Given the description of an element on the screen output the (x, y) to click on. 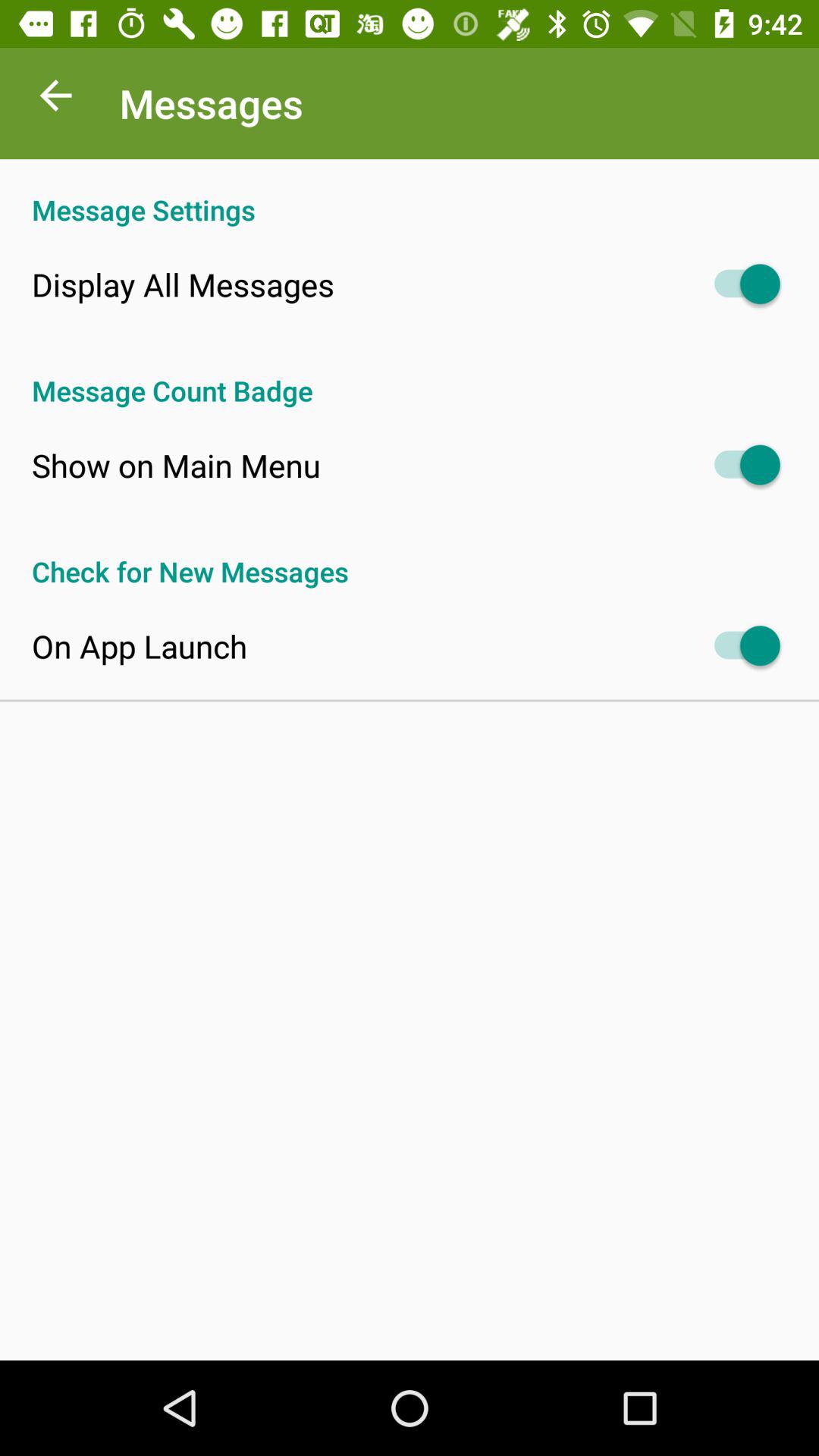
launch item above message count badge app (182, 283)
